Given the description of an element on the screen output the (x, y) to click on. 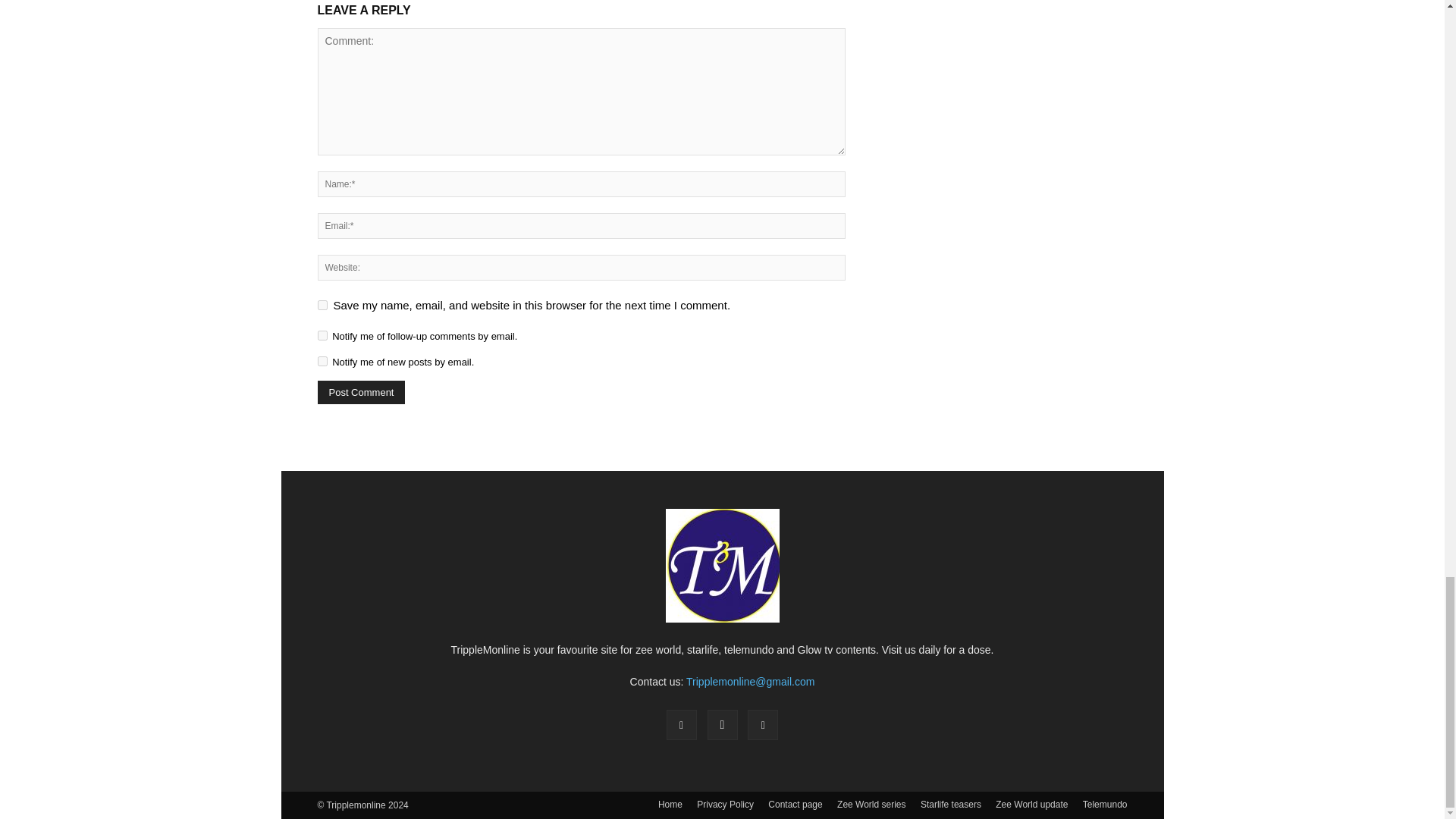
subscribe (321, 335)
subscribe (321, 361)
yes (321, 305)
Post Comment (360, 392)
